Given the description of an element on the screen output the (x, y) to click on. 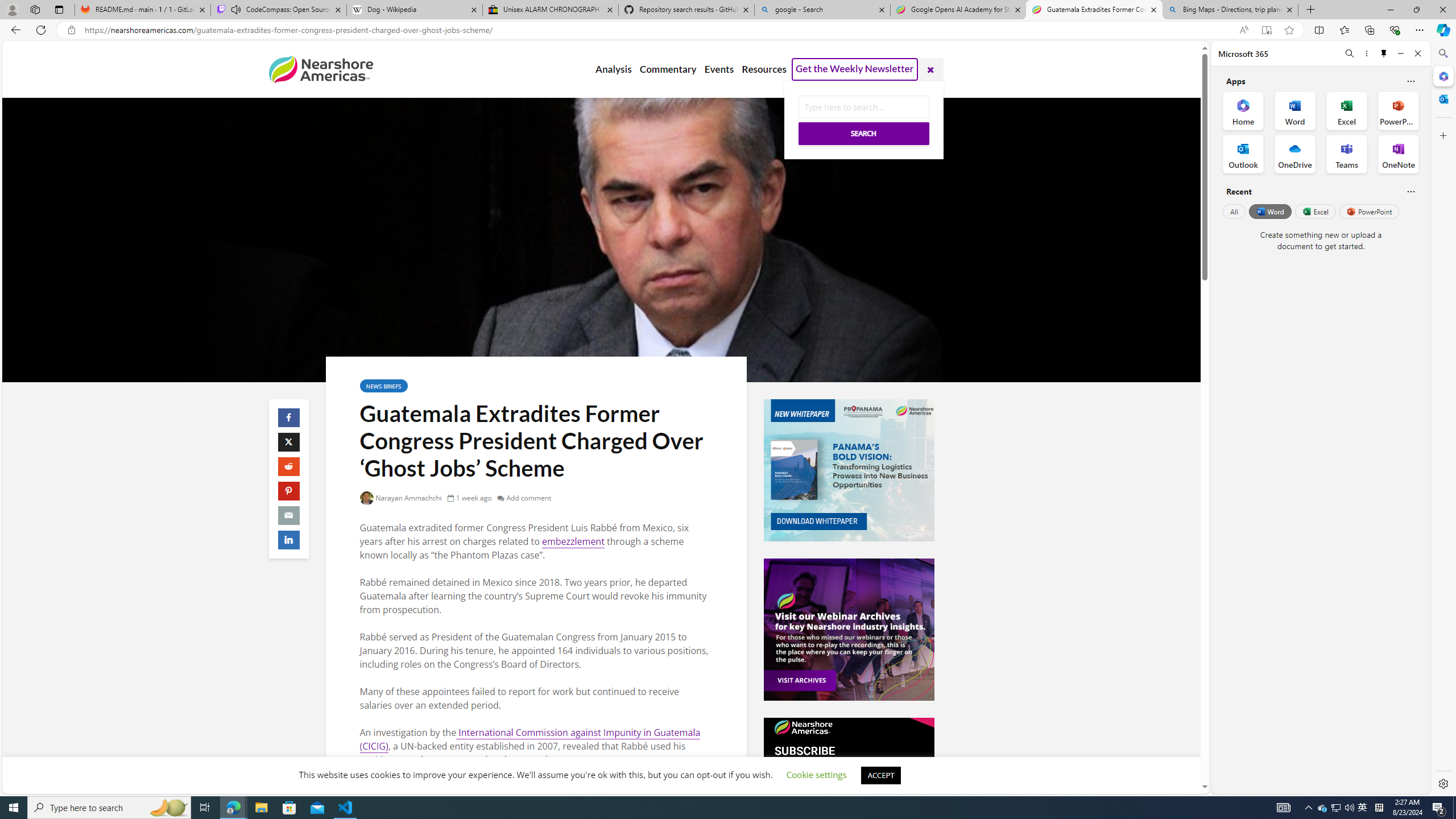
Narayan Ammachchi (400, 497)
Is this helpful? (1410, 191)
All (1233, 210)
Cookie settings (816, 774)
Word Office App (1295, 110)
Word (1269, 210)
